Given the description of an element on the screen output the (x, y) to click on. 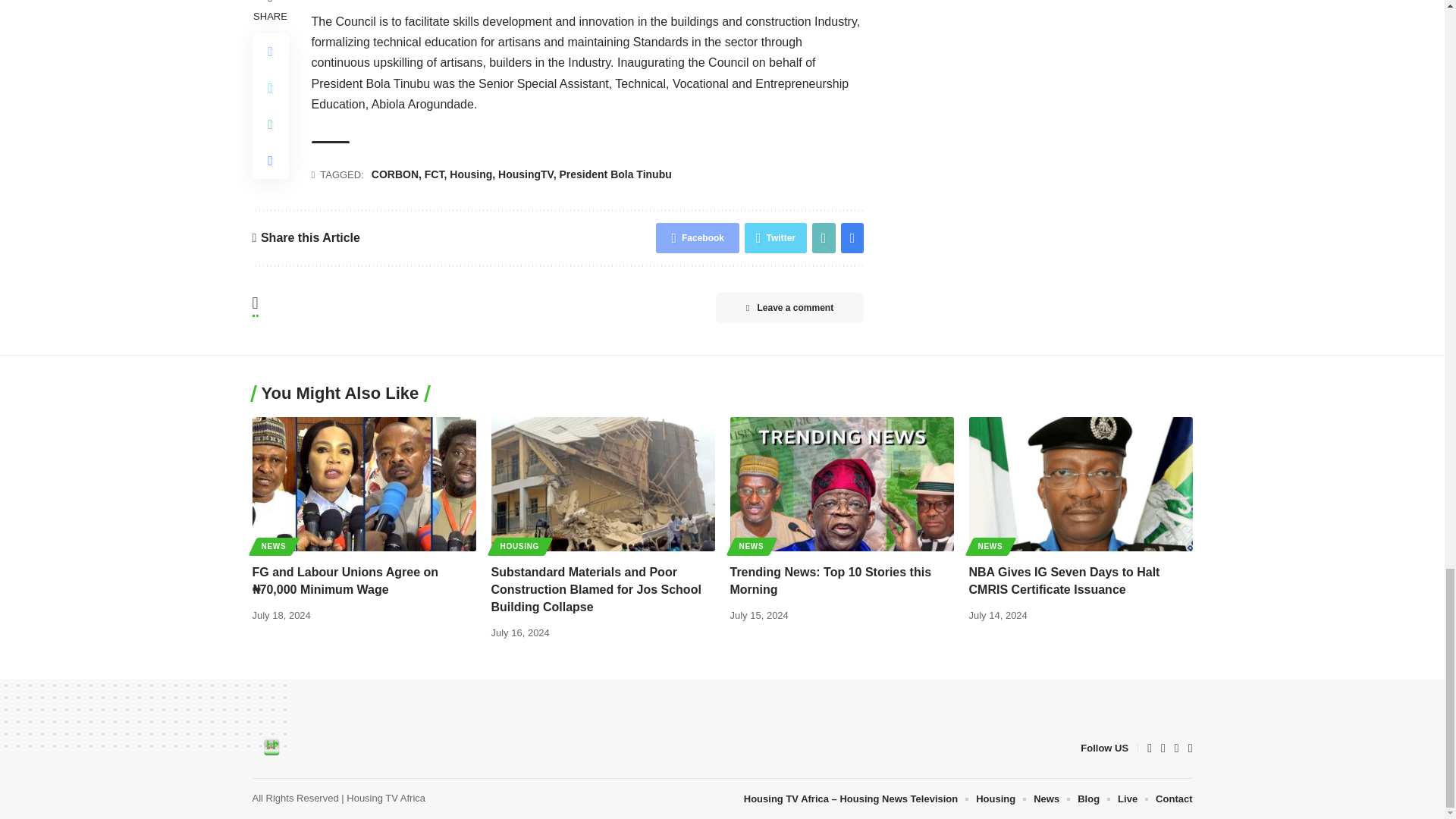
NBA Gives IG Seven Days to Halt CMRIS Certificate Issuance (1080, 483)
Housing TV Africa (270, 747)
Trending News: Top 10 Stories this Morning (841, 483)
